Given the description of an element on the screen output the (x, y) to click on. 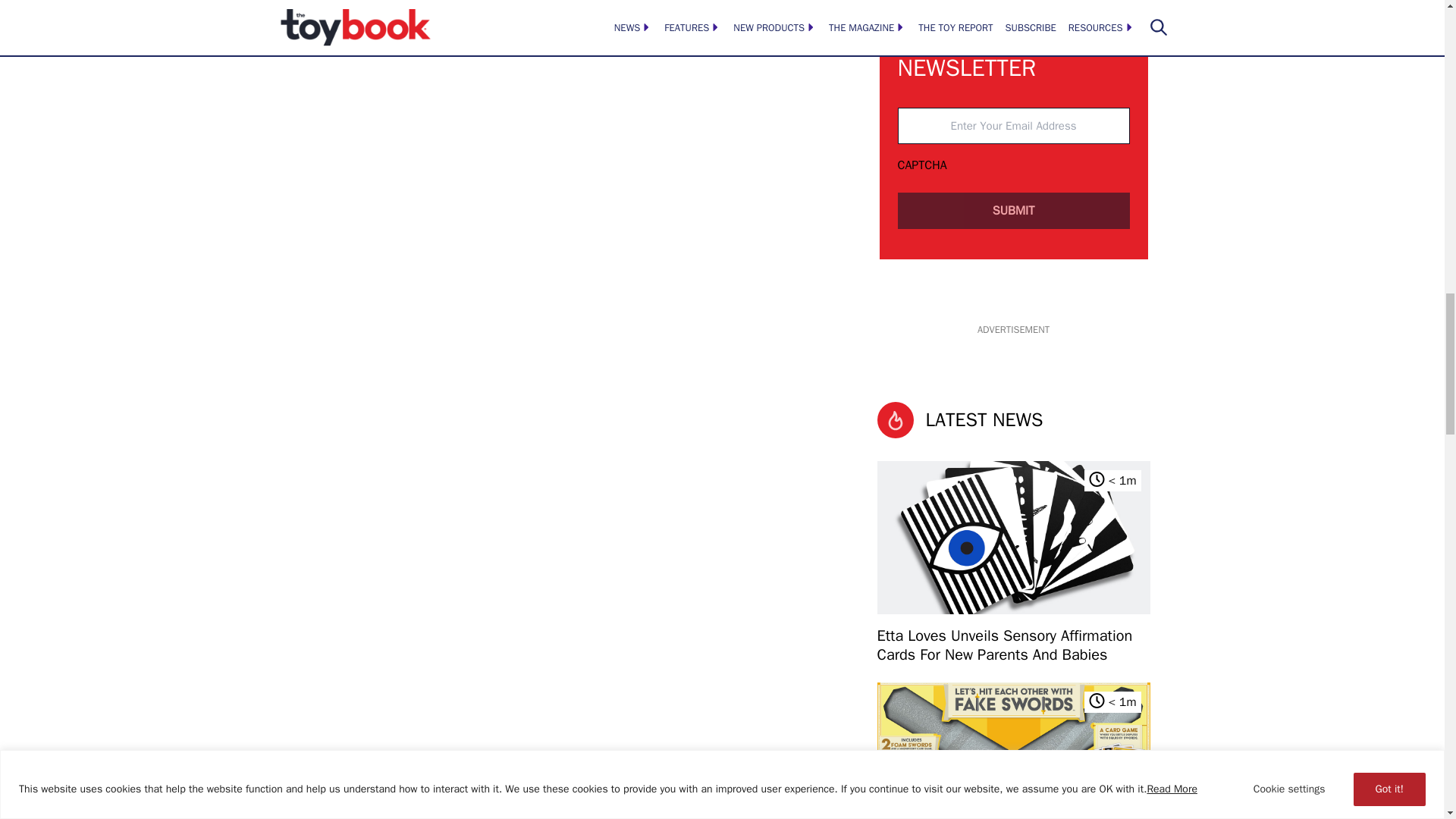
Exploding Kittens to Roll Out 5 New Tabletop Games (1013, 750)
SUBMIT (1013, 210)
